Given the description of an element on the screen output the (x, y) to click on. 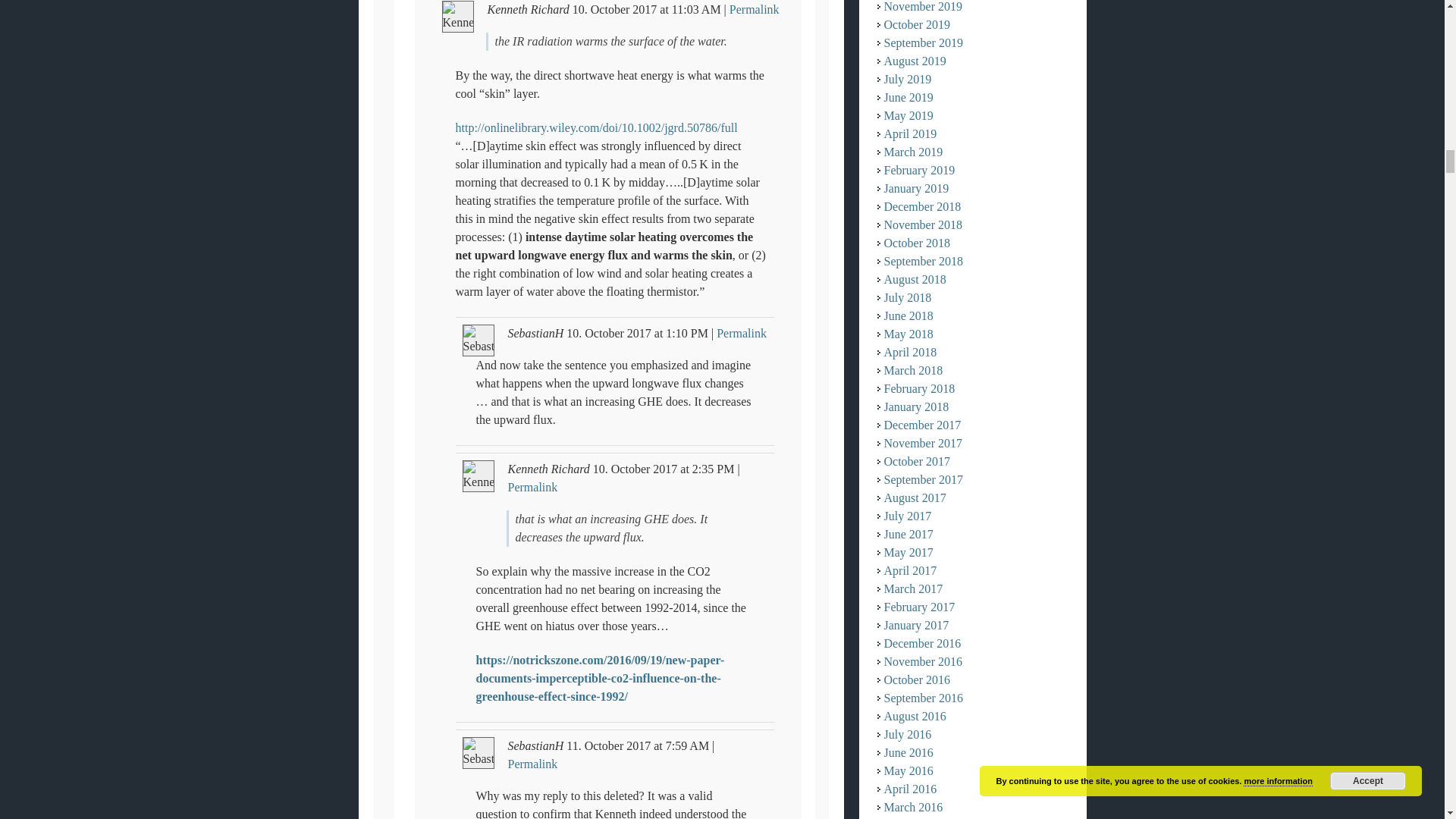
Permalink (532, 486)
Permalink (741, 332)
Permalink (753, 9)
